Given the description of an element on the screen output the (x, y) to click on. 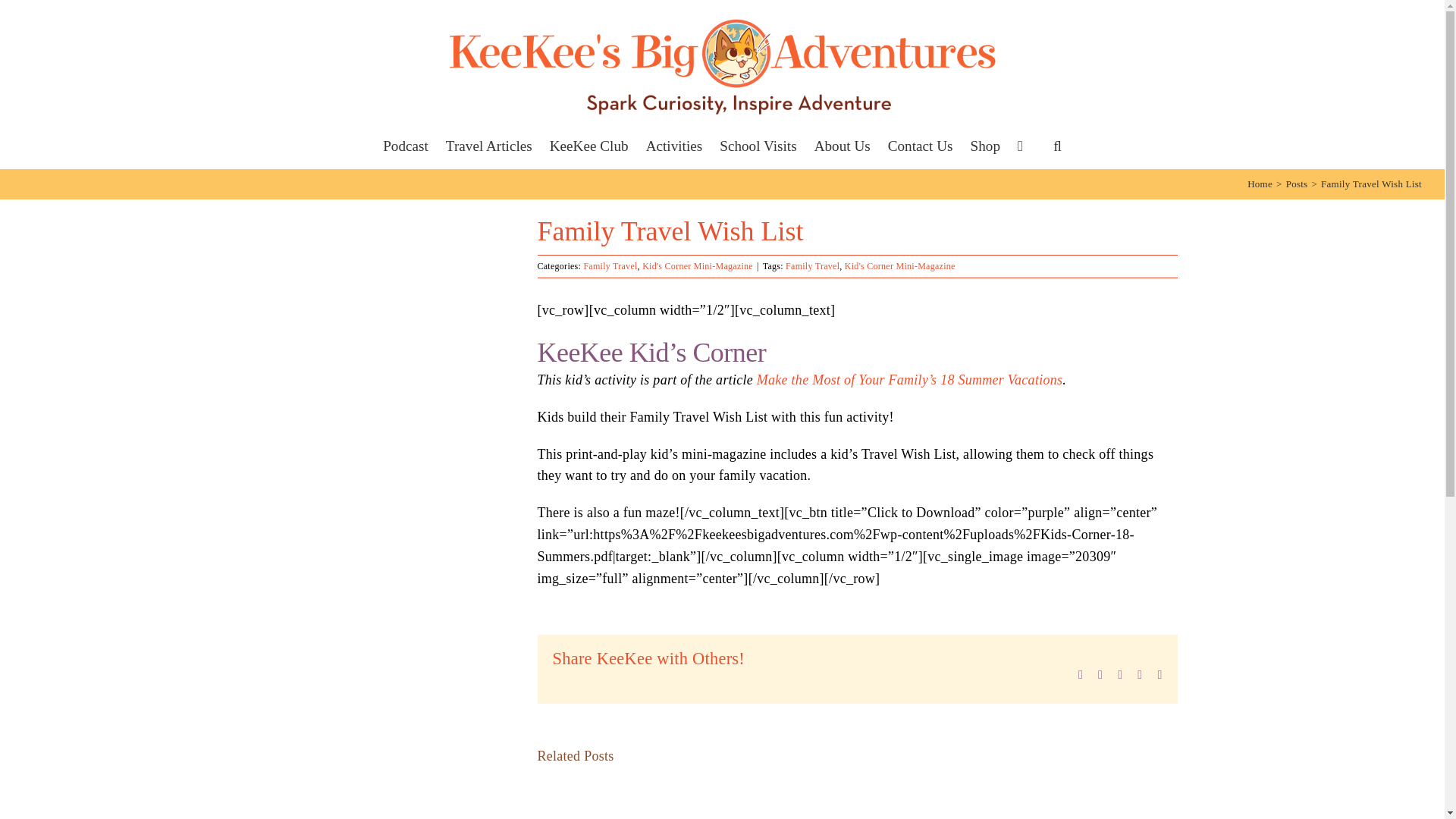
Family Travel (610, 266)
Kid's Corner Mini-Magazine (697, 266)
Podcast (405, 145)
Travel Articles (488, 145)
Contact Us (920, 145)
About Us (841, 145)
Kid's Corner Mini-Magazine (899, 266)
School Visits (757, 145)
Posts (1296, 183)
Family Travel (813, 266)
